Given the description of an element on the screen output the (x, y) to click on. 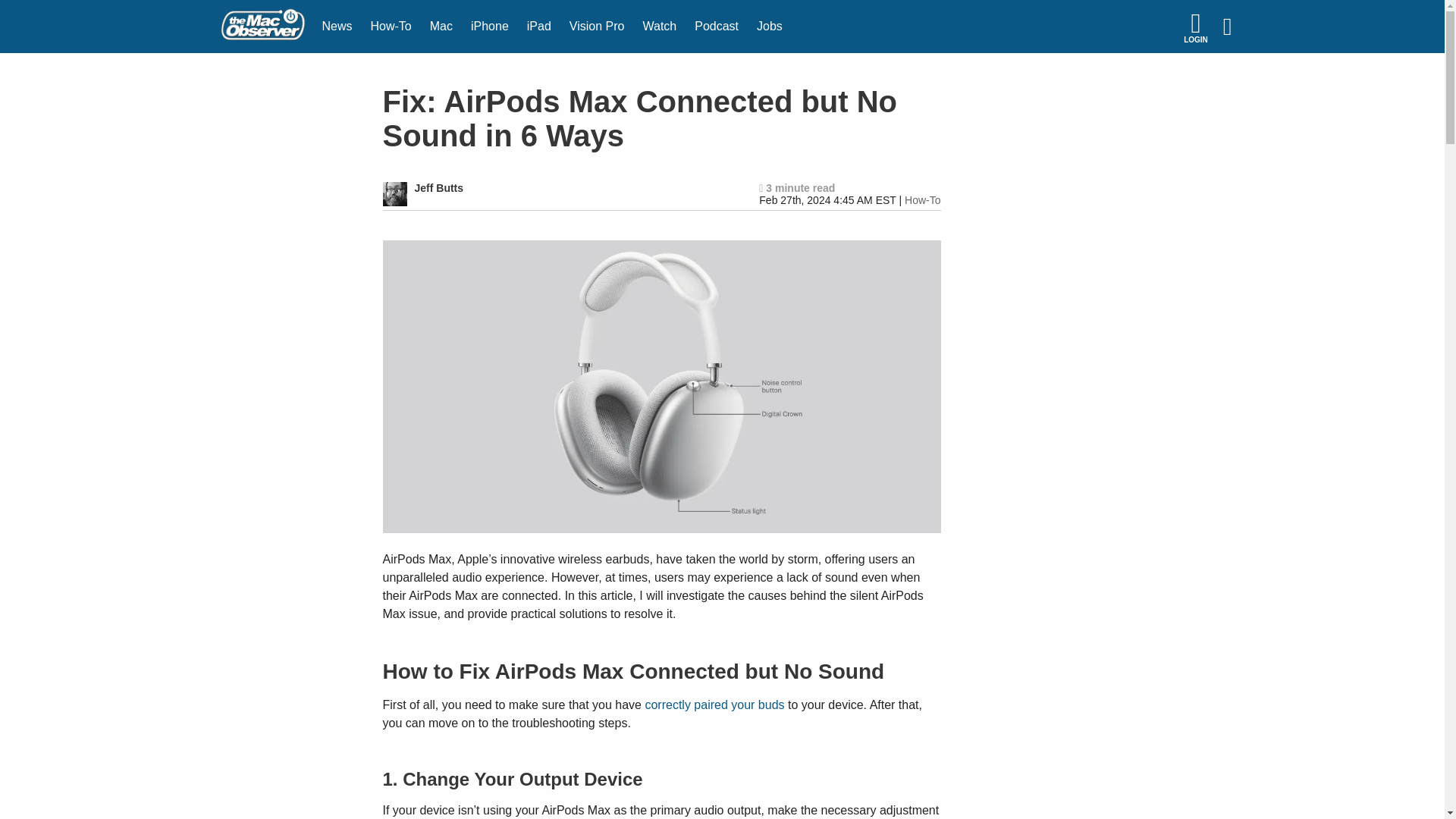
correctly paired your buds (714, 704)
How-To (922, 200)
The Mac Observer (262, 26)
News (337, 26)
iPhone (489, 26)
Vision Pro (596, 26)
How-To (390, 26)
Podcast (716, 26)
Vision Pro (596, 26)
News (337, 26)
